Given the description of an element on the screen output the (x, y) to click on. 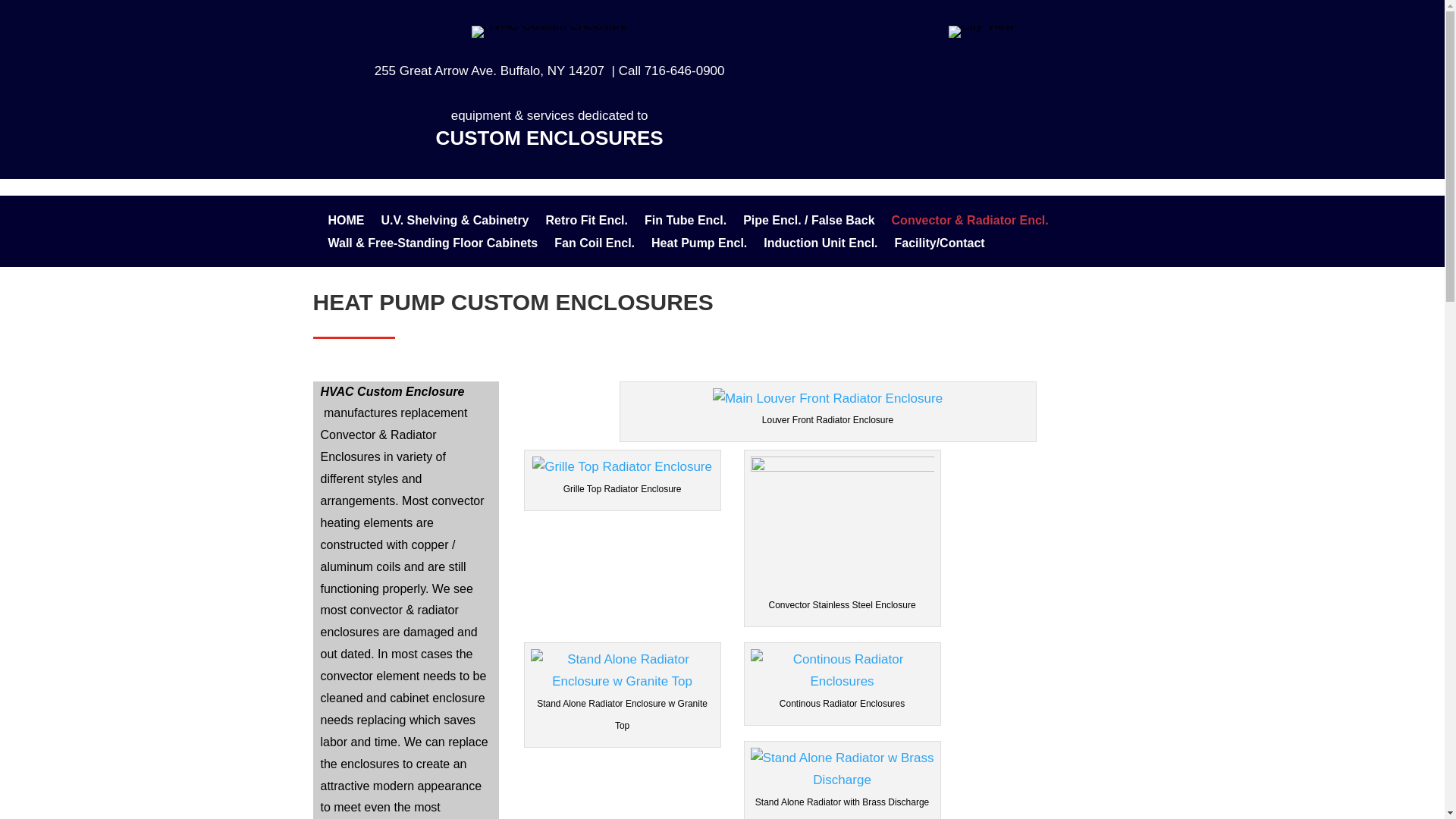
Retro Fit Enclosures (586, 223)
Heat Pump Encl. (698, 246)
Fan Coil Enclosure (594, 246)
Fin Tube Enclosure (685, 223)
HVAC Custom Enclosure (549, 31)
Retro Fit Encl. (586, 223)
Call 716-646-0900 (671, 70)
Pipe Enclosures (808, 223)
City View (981, 31)
Fin Tube Encl. (685, 223)
Induction Unit Enclosures (819, 246)
Induction Unit Encl. (819, 246)
Fan Coil Encl. (594, 246)
HOME (345, 223)
Heat Pump Enclosure (698, 246)
